Given the description of an element on the screen output the (x, y) to click on. 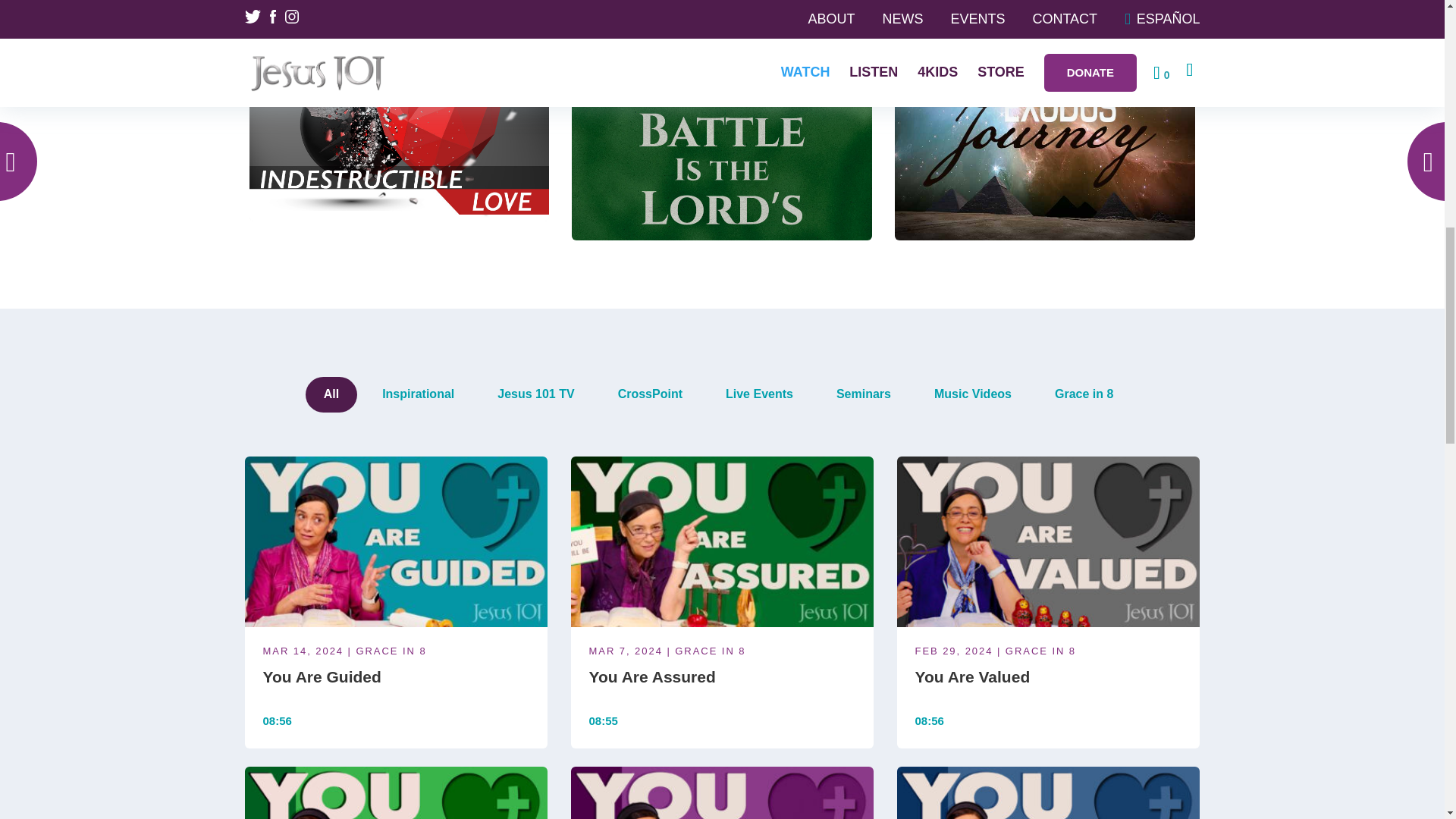
You Are Assured (721, 544)
You Are Guided (395, 544)
You Are Guided (395, 689)
